Given the description of an element on the screen output the (x, y) to click on. 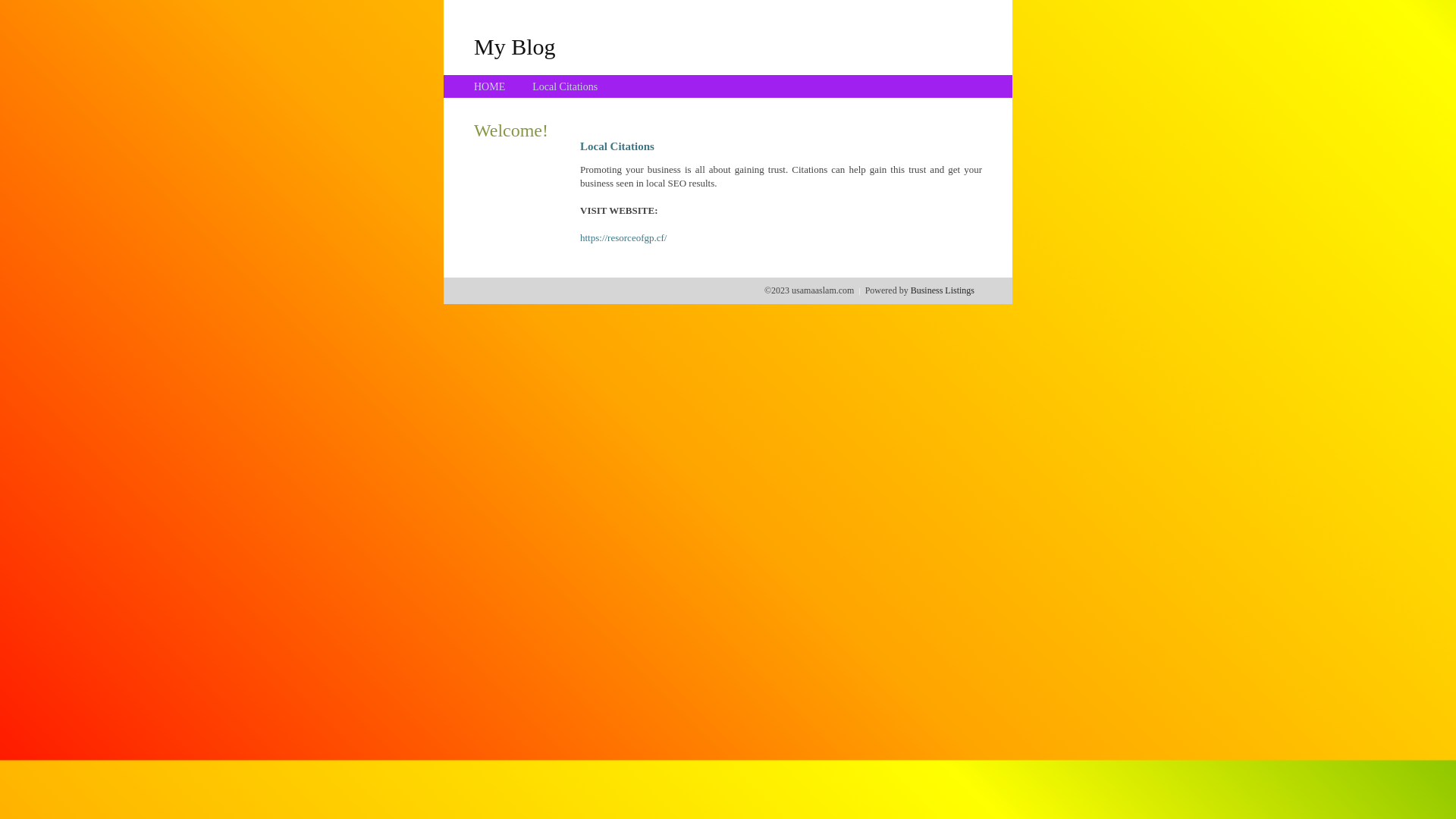
Local Citations Element type: text (564, 86)
HOME Element type: text (489, 86)
Business Listings Element type: text (942, 290)
https://resorceofgp.cf/ Element type: text (623, 237)
My Blog Element type: text (514, 46)
